Given the description of an element on the screen output the (x, y) to click on. 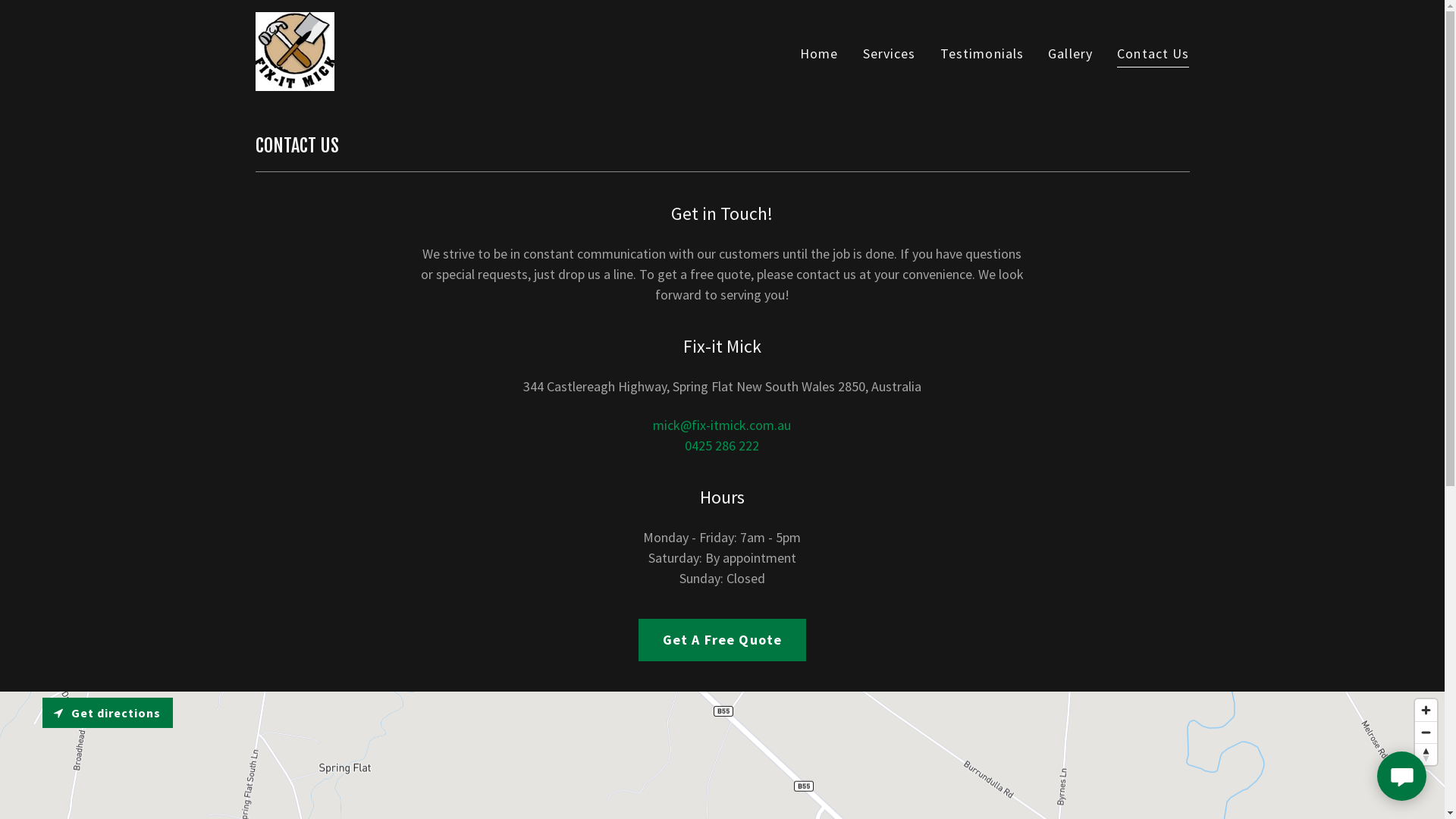
Get directions Element type: text (107, 712)
Fix-it Mick Element type: hover (293, 49)
Get A Free Quote Element type: text (722, 639)
Zoom in Element type: hover (1426, 710)
Zoom out Element type: hover (1426, 732)
0425 286 222 Element type: text (721, 445)
Contact Us Element type: text (1153, 55)
Reset bearing to north Element type: hover (1426, 754)
mick@fix-itmick.com.au Element type: text (721, 424)
Testimonials Element type: text (982, 53)
Gallery Element type: text (1070, 53)
Services Element type: text (889, 53)
Home Element type: text (819, 53)
